Given the description of an element on the screen output the (x, y) to click on. 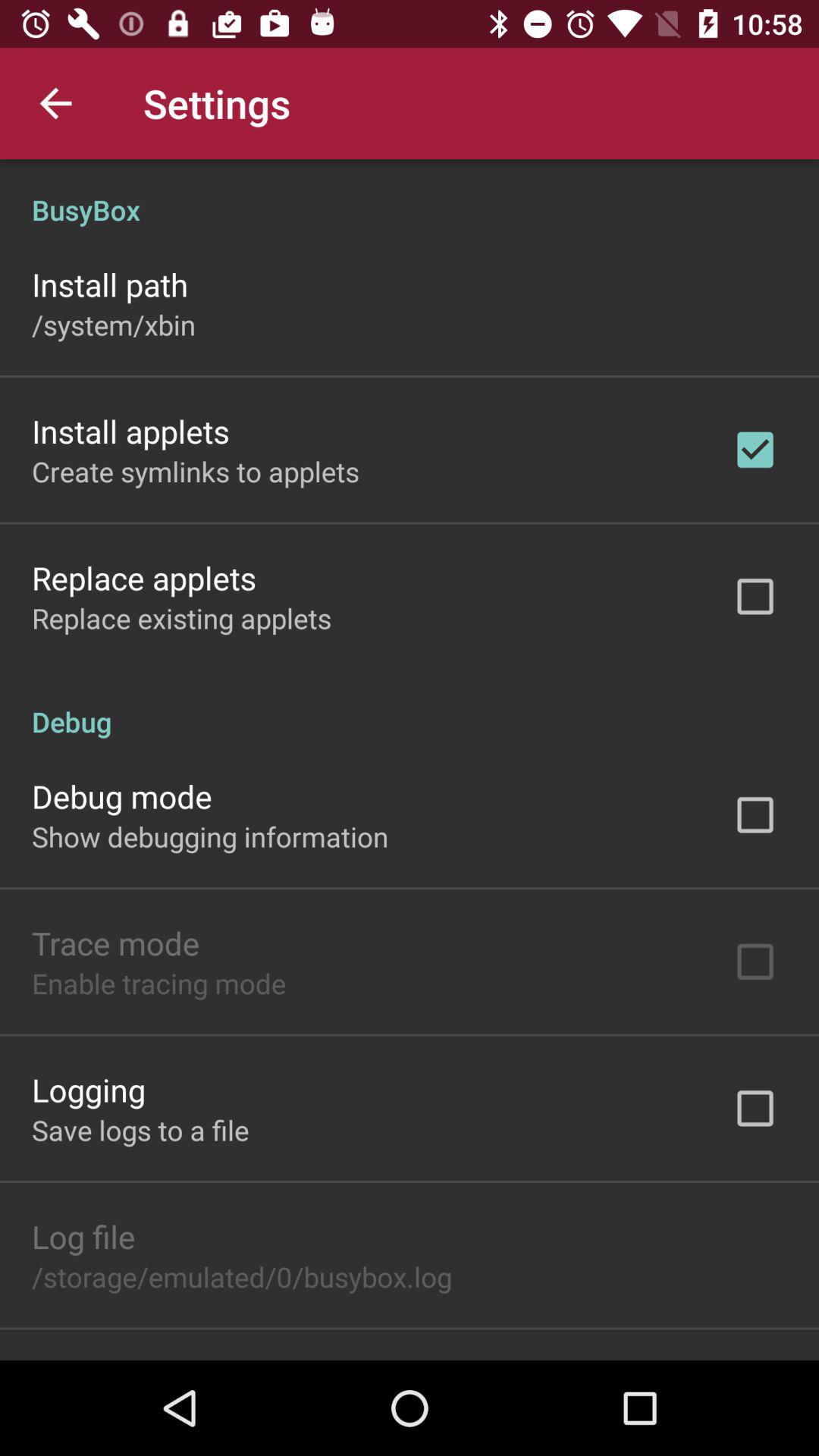
launch icon below enable tracing mode (88, 1089)
